Given the description of an element on the screen output the (x, y) to click on. 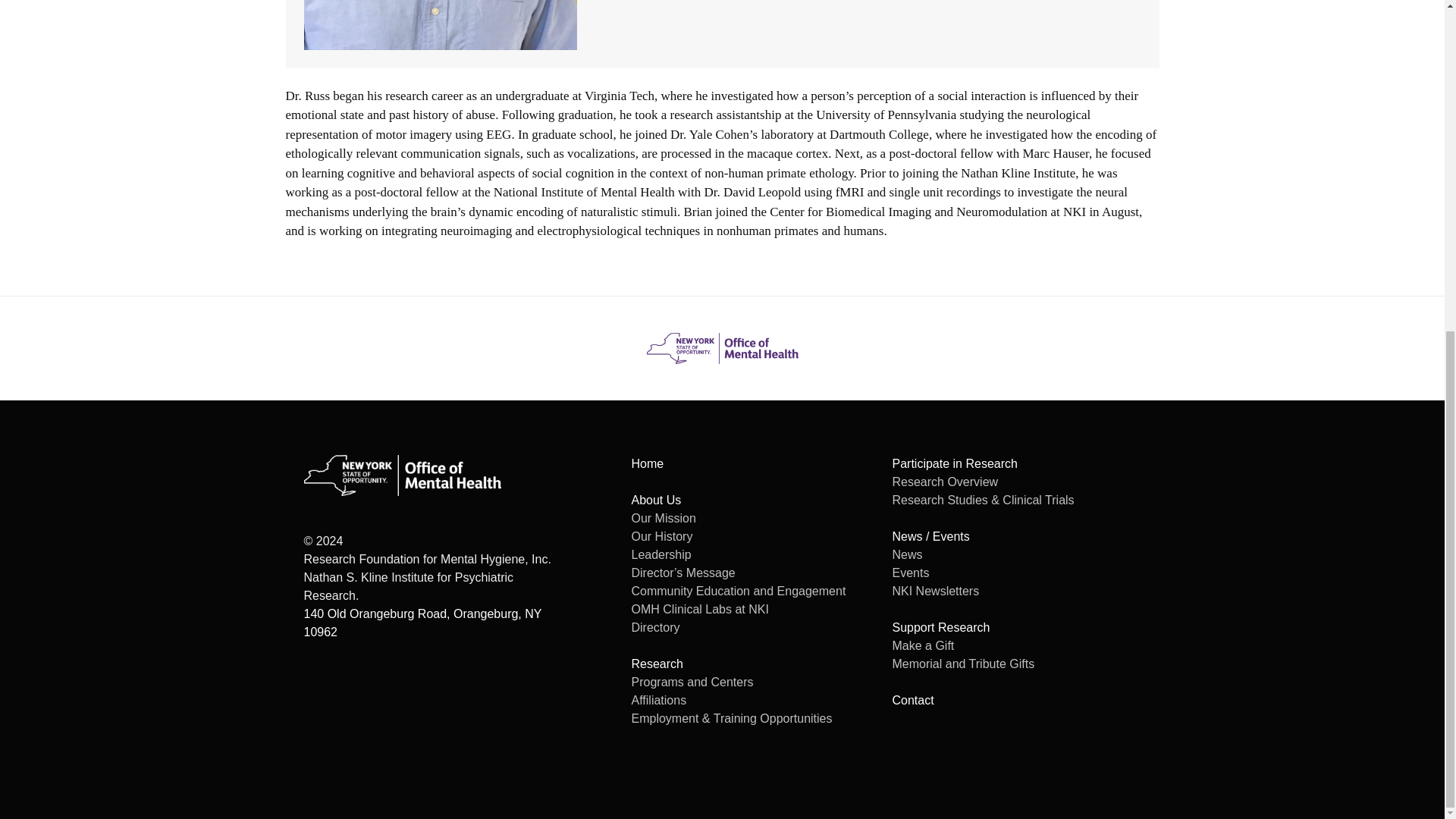
The Nathan Kline Institute for Psychiatric Research (721, 347)
